Given the description of an element on the screen output the (x, y) to click on. 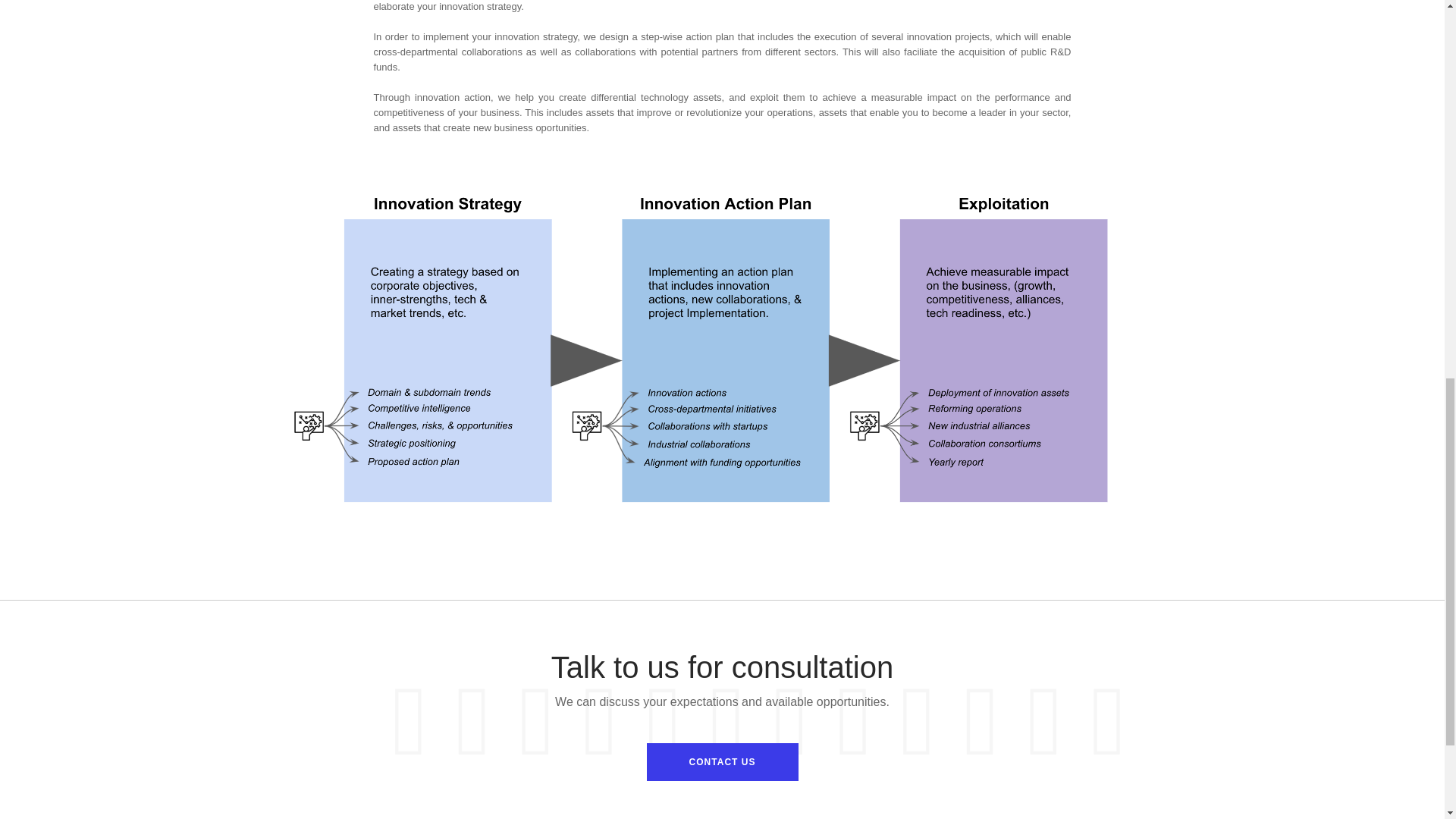
CONTACT US (721, 761)
